Given the description of an element on the screen output the (x, y) to click on. 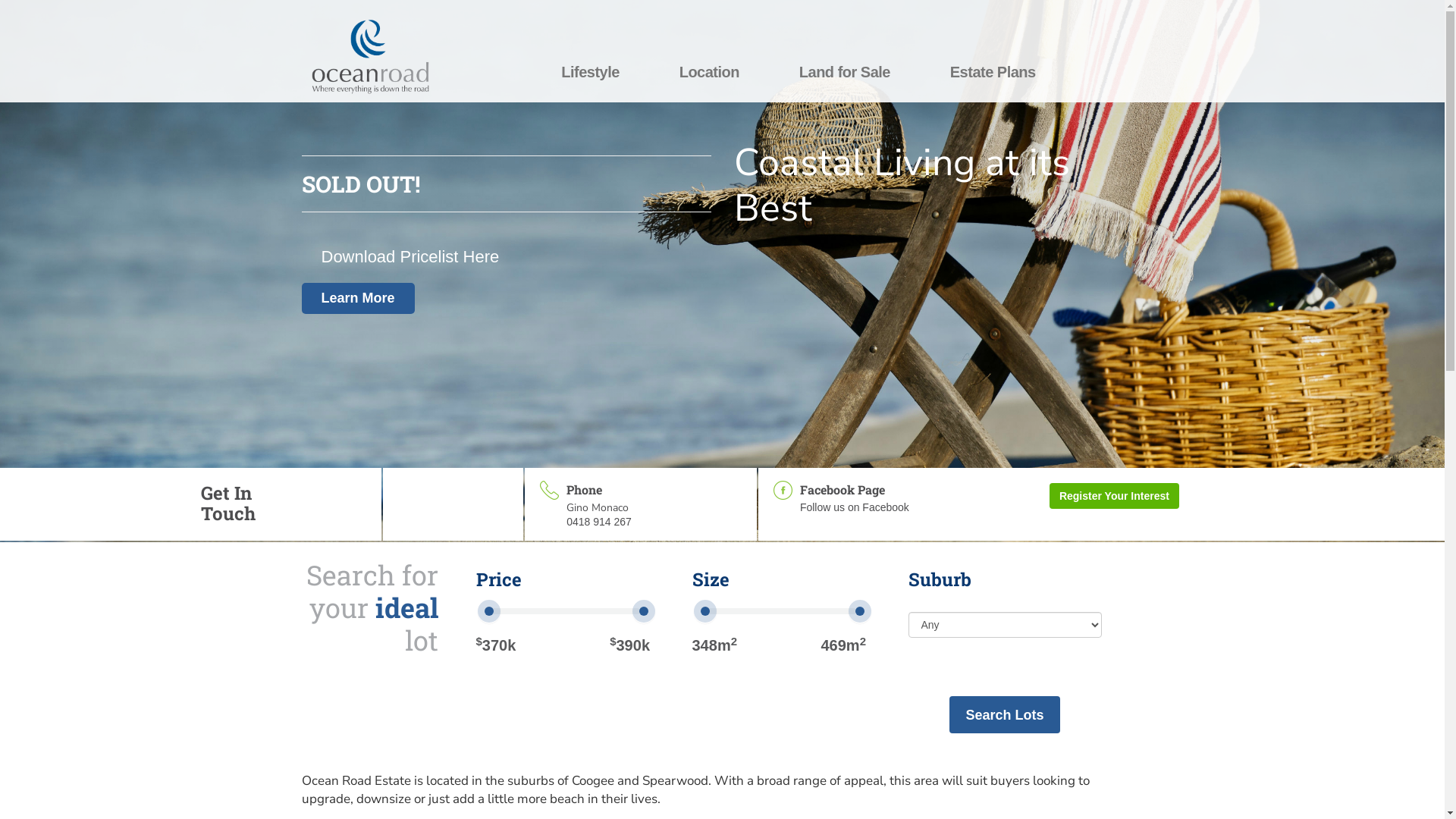
0418 914 267 Element type: text (598, 521)
Learn More Element type: text (357, 298)
Lifestyle Element type: text (590, 71)
Land for Sale Element type: text (844, 71)
Register Your Interest Element type: text (1114, 495)
Download Pricelist Here Element type: text (410, 257)
Location Element type: text (709, 71)
Estate Plans Element type: text (992, 71)
Follow us on Facebook Element type: text (854, 507)
Search Lots Element type: text (1004, 715)
